Given the description of an element on the screen output the (x, y) to click on. 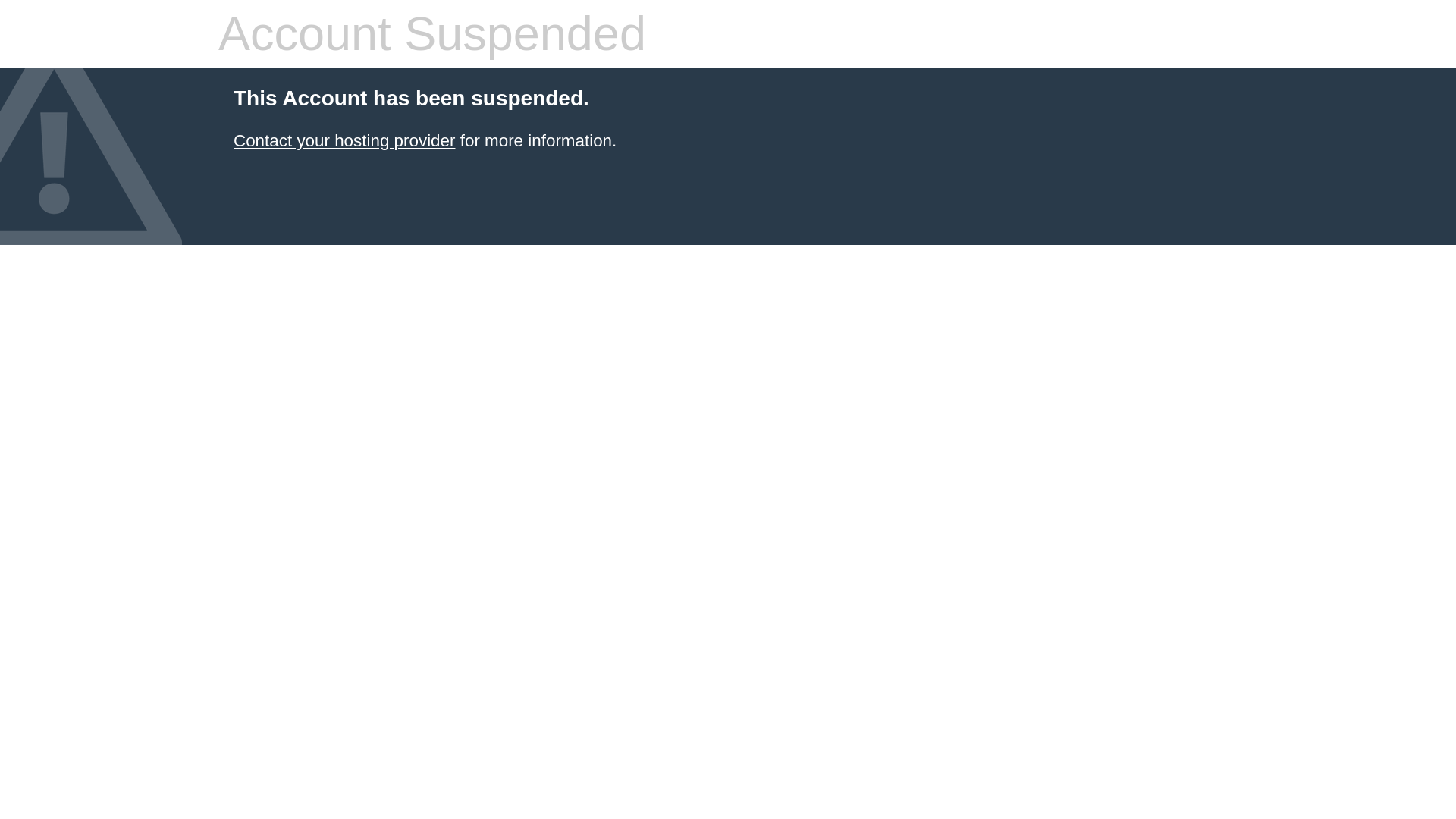
Contact your hosting provider (343, 140)
